Given the description of an element on the screen output the (x, y) to click on. 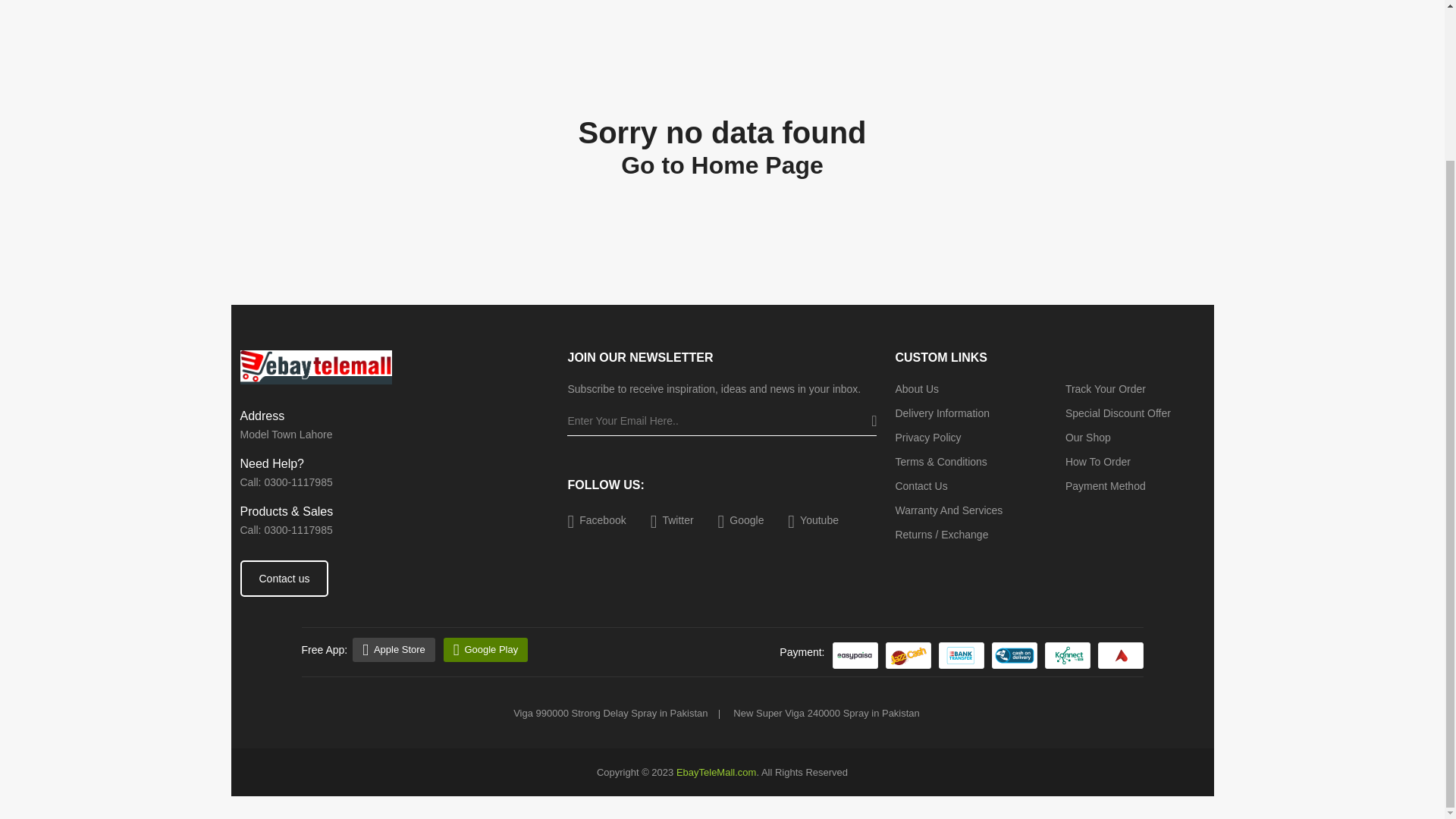
Youtube (812, 519)
Twitter (672, 519)
Facebook (596, 519)
Google (740, 519)
